Given the description of an element on the screen output the (x, y) to click on. 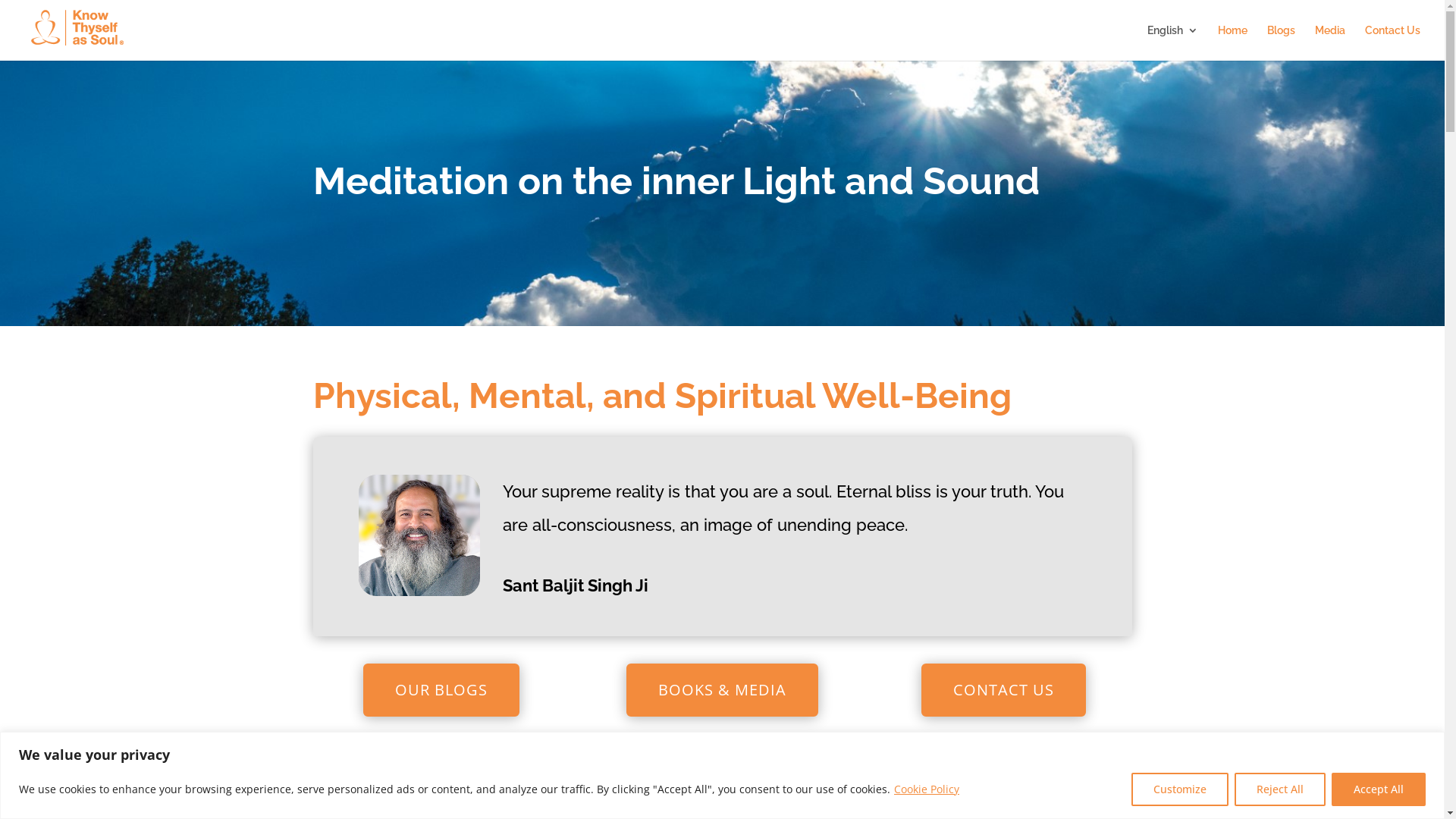
Blogs Element type: text (1281, 42)
Media Element type: text (1329, 42)
Cookie Policy Element type: text (926, 789)
Customize Element type: text (1179, 788)
Accept All Element type: text (1378, 788)
OUR BLOGS Element type: text (441, 689)
Reject All Element type: text (1279, 788)
English Element type: text (1172, 42)
Contact Us Element type: text (1392, 42)
BOOKS & MEDIA Element type: text (722, 689)
CONTACT US Element type: text (1003, 689)
Home Element type: text (1232, 42)
